Given the description of an element on the screen output the (x, y) to click on. 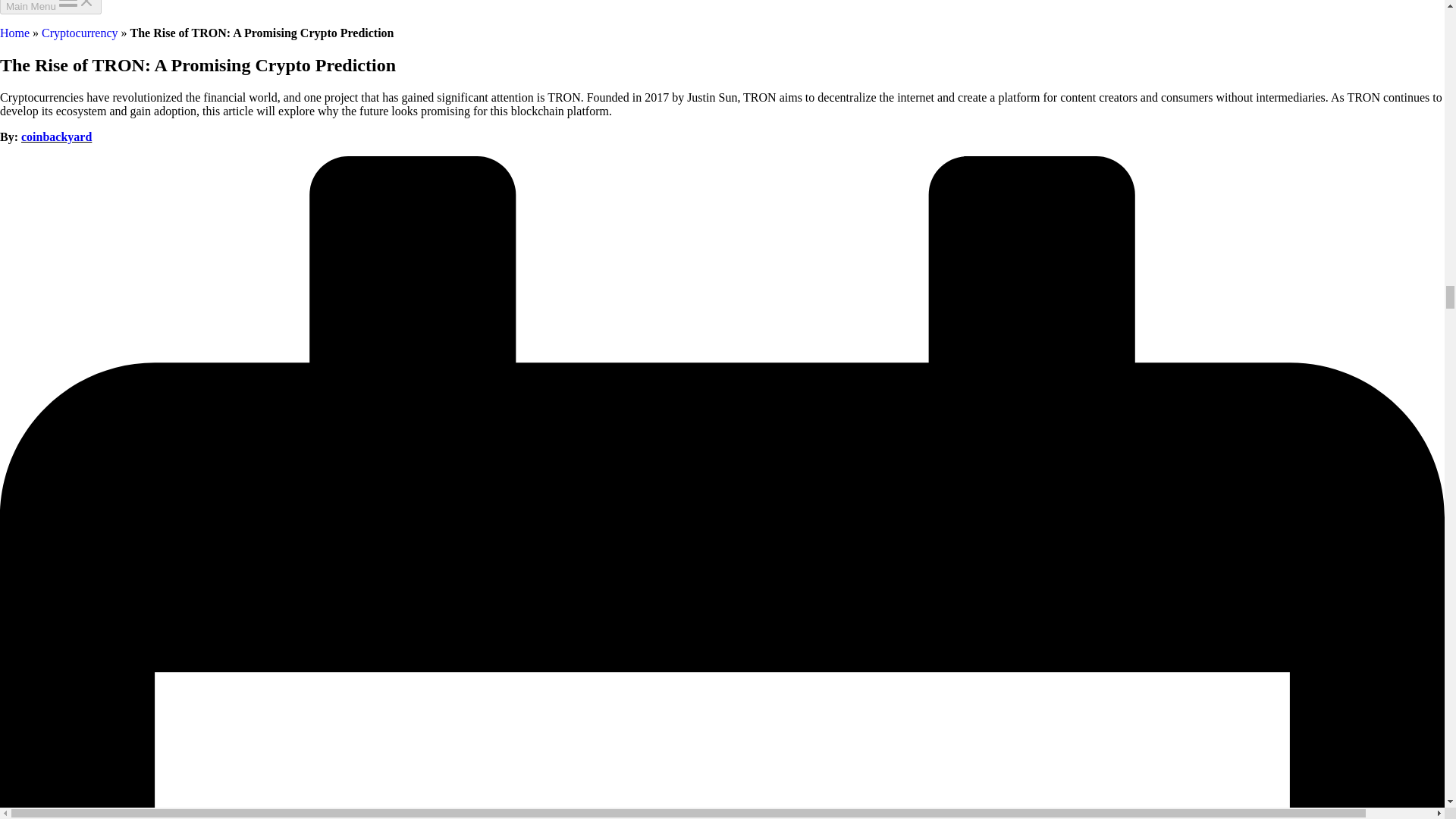
Cryptocurrency (79, 32)
coinbackyard (56, 136)
Main Menu (50, 7)
Home (14, 32)
